Given the description of an element on the screen output the (x, y) to click on. 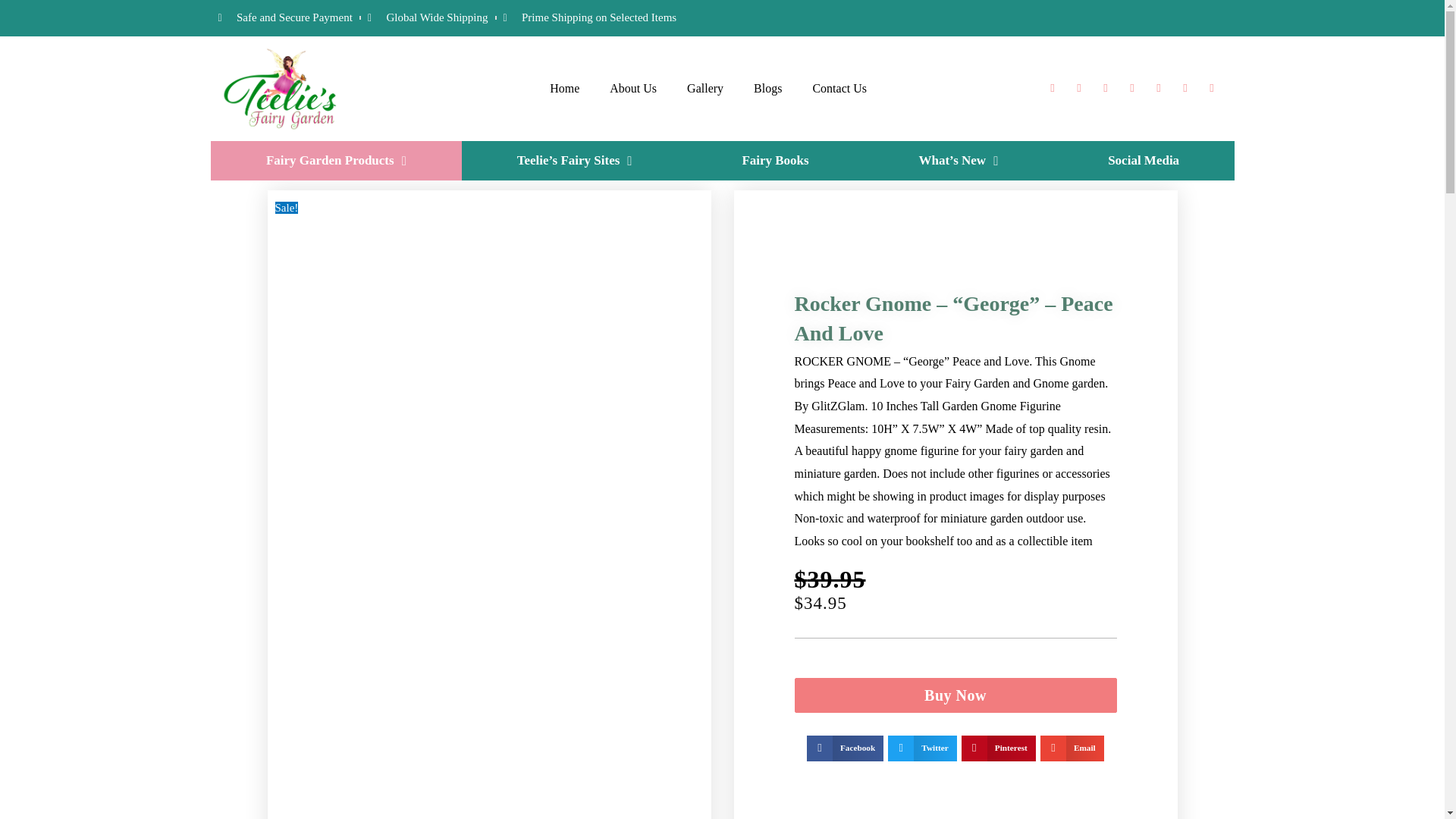
Contact Us (839, 88)
X-twitter (1078, 87)
Tiktok (1184, 87)
Youtube (1131, 87)
Amazon (1211, 87)
Pinterest (1105, 87)
About Us (632, 88)
Facebook (1052, 87)
Home (564, 88)
Instagram (1158, 87)
